Given the description of an element on the screen output the (x, y) to click on. 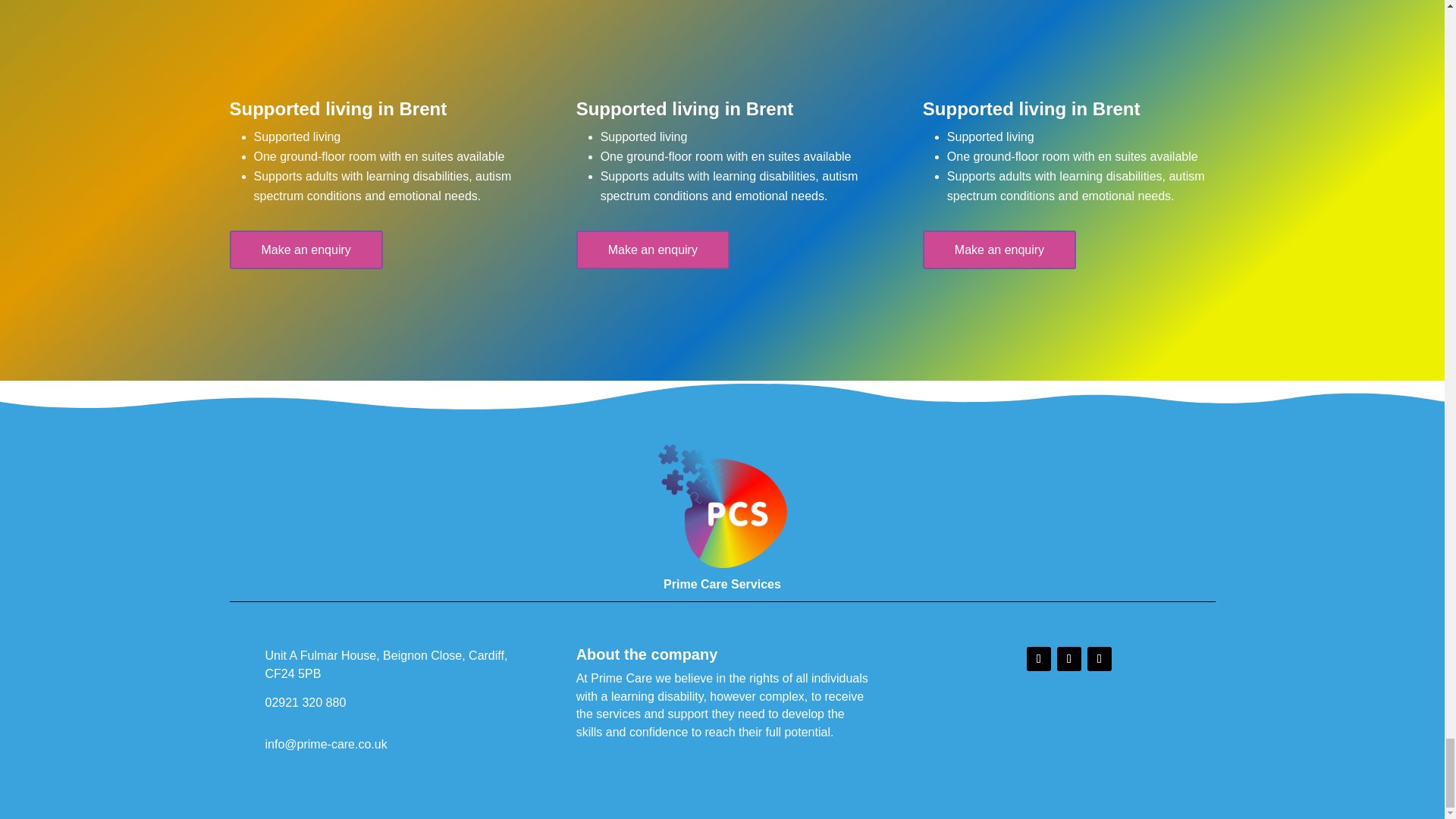
Follow on Instagram (1099, 658)
Follow on Facebook (1038, 658)
Follow on Twitter (1069, 658)
